Given the description of an element on the screen output the (x, y) to click on. 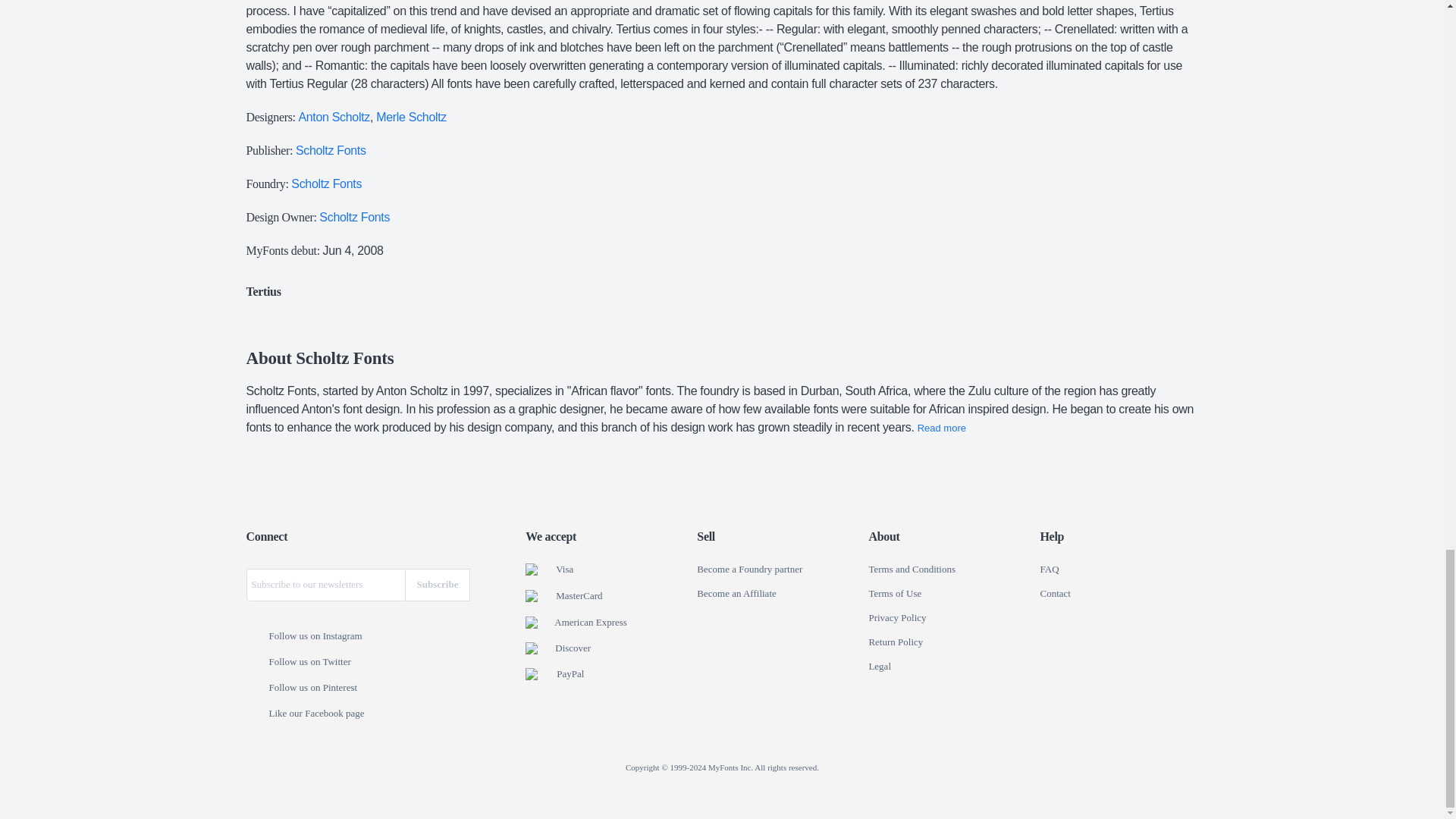
Like our Facebook page (256, 714)
Become a Foundry partner (749, 569)
Follow us on Instagram (256, 636)
Follow us on Pinterest (256, 688)
Follow us on Twitter (256, 662)
Please fill out this field (325, 584)
